Given the description of an element on the screen output the (x, y) to click on. 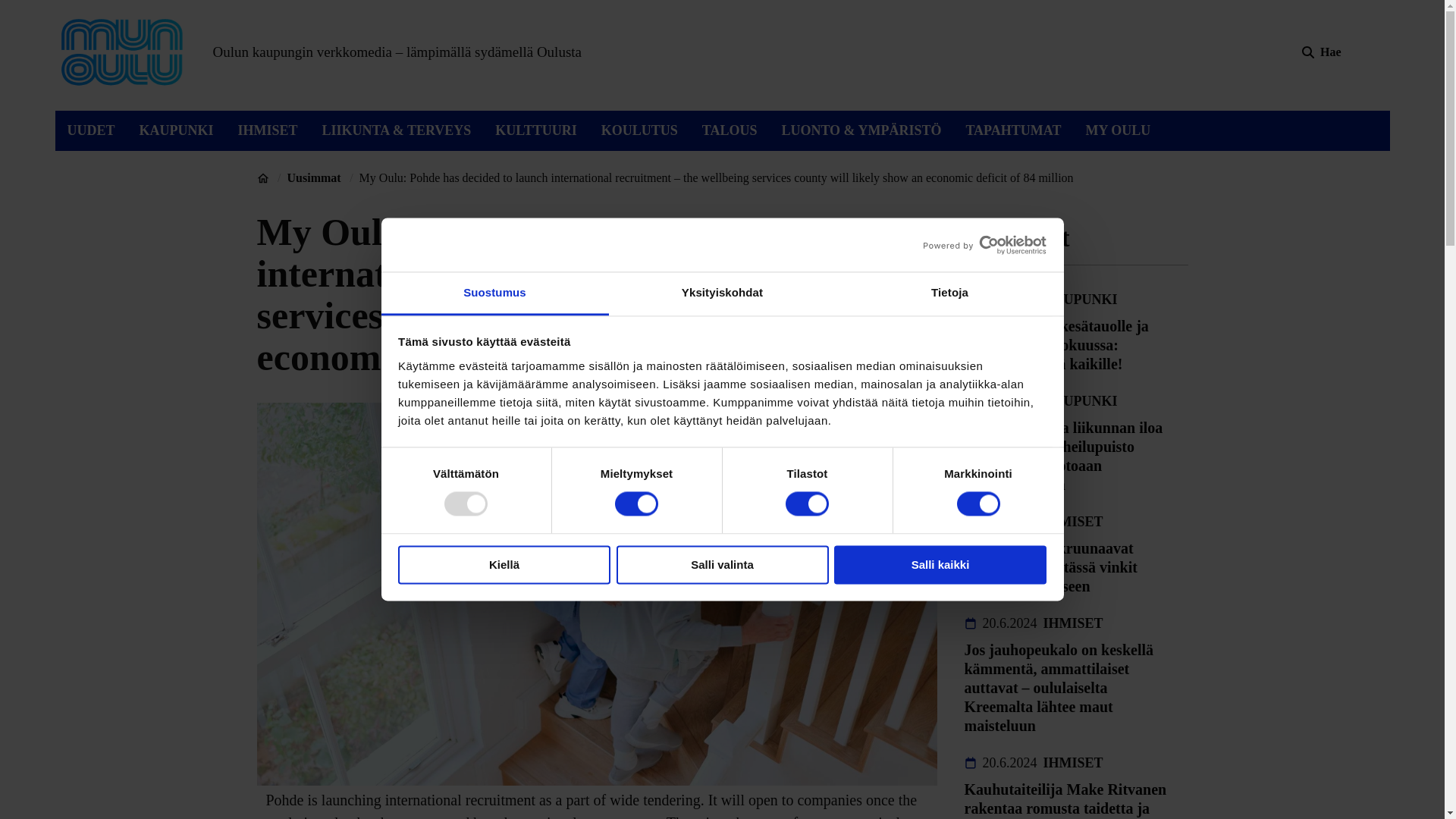
Yksityiskohdat (721, 293)
Tietoja (948, 293)
Suostumus (494, 293)
